Given the description of an element on the screen output the (x, y) to click on. 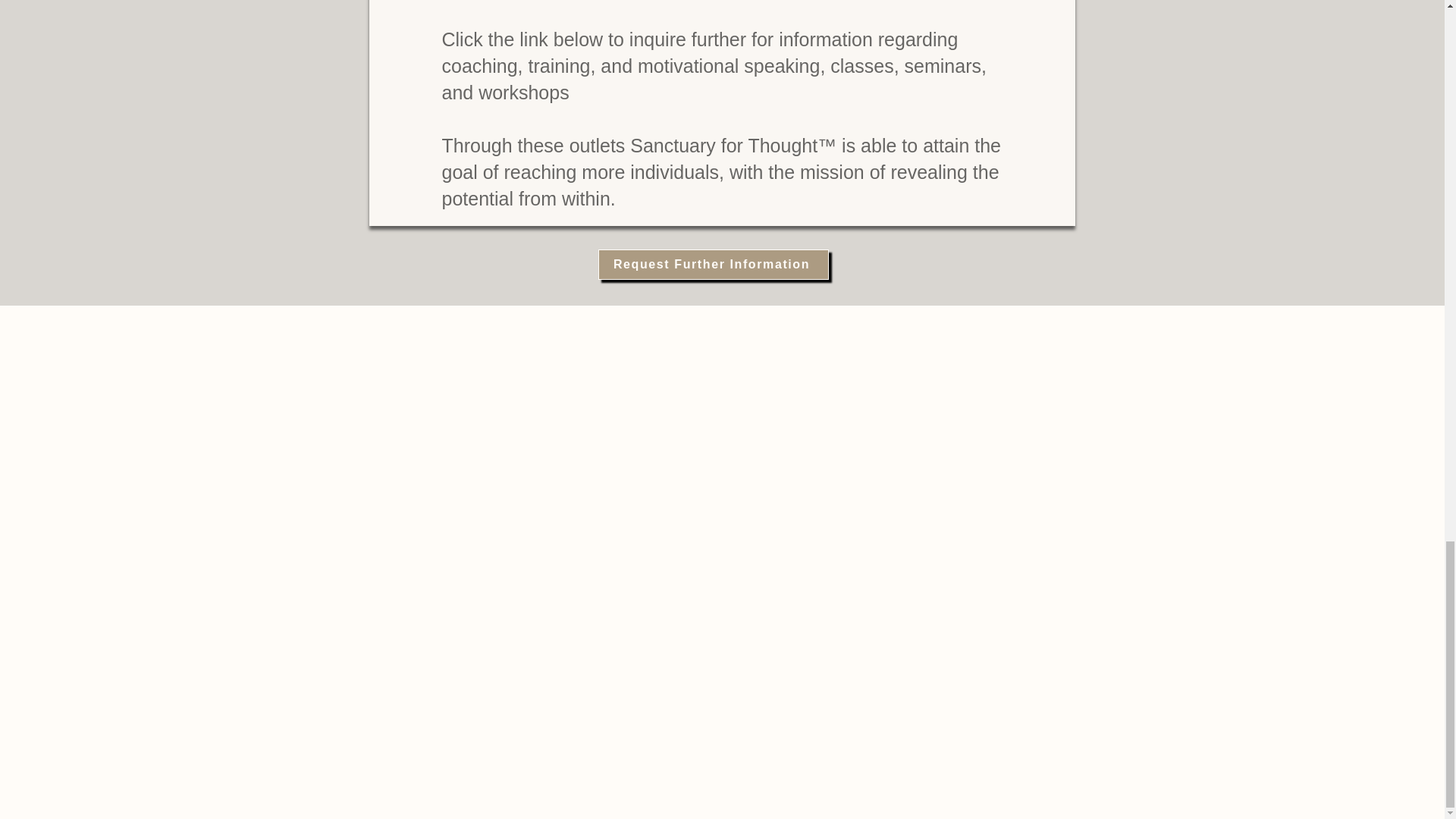
Request Further Information (712, 264)
